Given the description of an element on the screen output the (x, y) to click on. 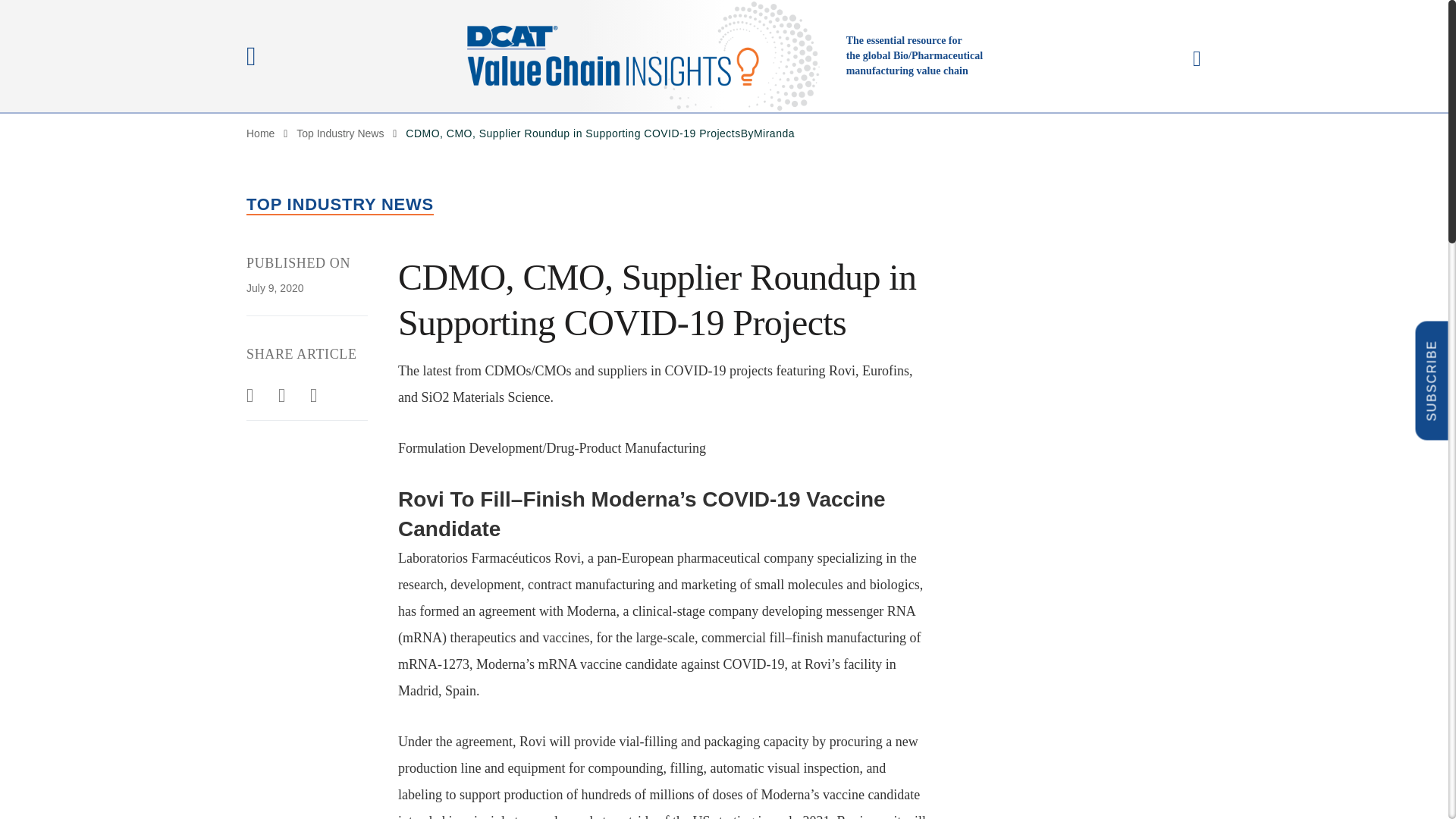
TOP INDUSTRY NEWS (339, 204)
Top Industry News (340, 133)
Home (260, 133)
